Given the description of an element on the screen output the (x, y) to click on. 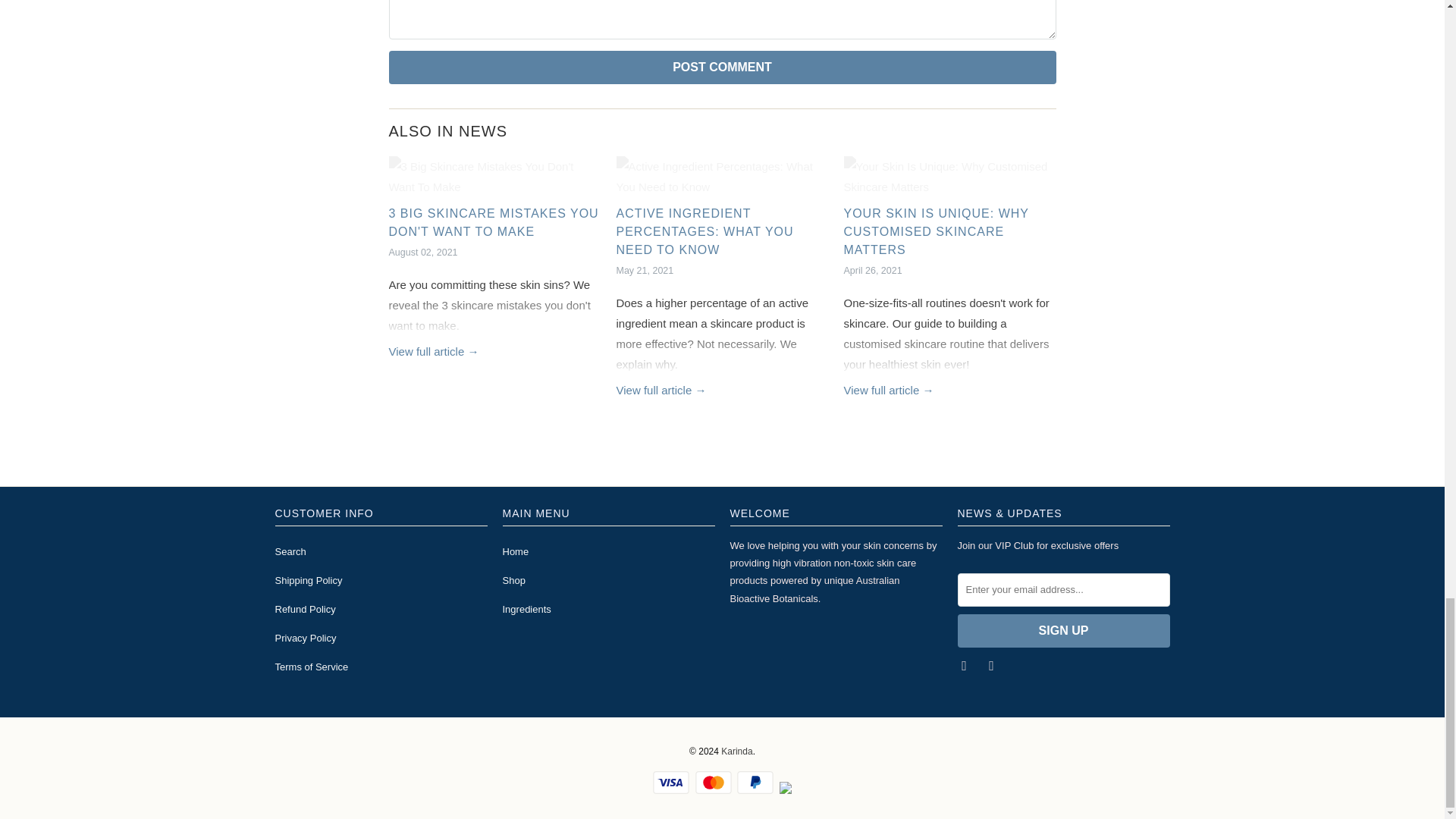
Post comment (721, 67)
Visa (672, 782)
3 Big Skincare Mistakes You Don't Want To Make (493, 222)
3 Big Skincare Mistakes You Don't Want To Make (493, 176)
Sign Up (1062, 630)
Your Skin Is Unique: Why Customised Skincare Matters (888, 390)
Active Ingredient Percentages: What You Need to Know (721, 176)
Your Skin Is Unique: Why Customised Skincare Matters (949, 176)
Active Ingredient Percentages: What You Need to Know (660, 390)
Your Skin Is Unique: Why Customised Skincare Matters (935, 231)
